Given the description of an element on the screen output the (x, y) to click on. 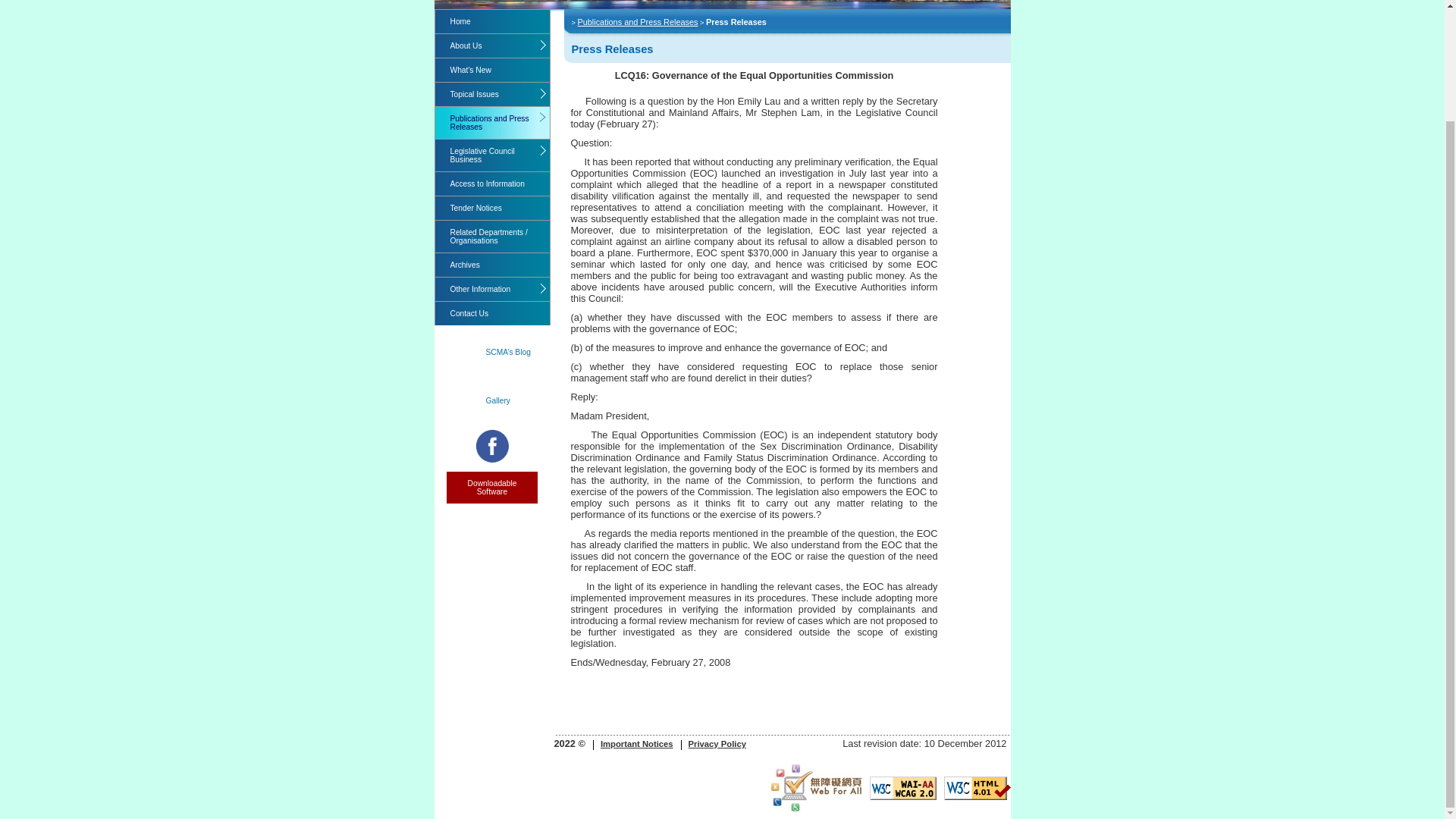
Home (492, 21)
Web Accessibility Recognition Scheme (815, 787)
About Us (492, 45)
What's New (492, 69)
Valid HTML 4.01 (976, 788)
Topical Issues (492, 94)
WCAG 2.0 AA (902, 788)
